Given the description of an element on the screen output the (x, y) to click on. 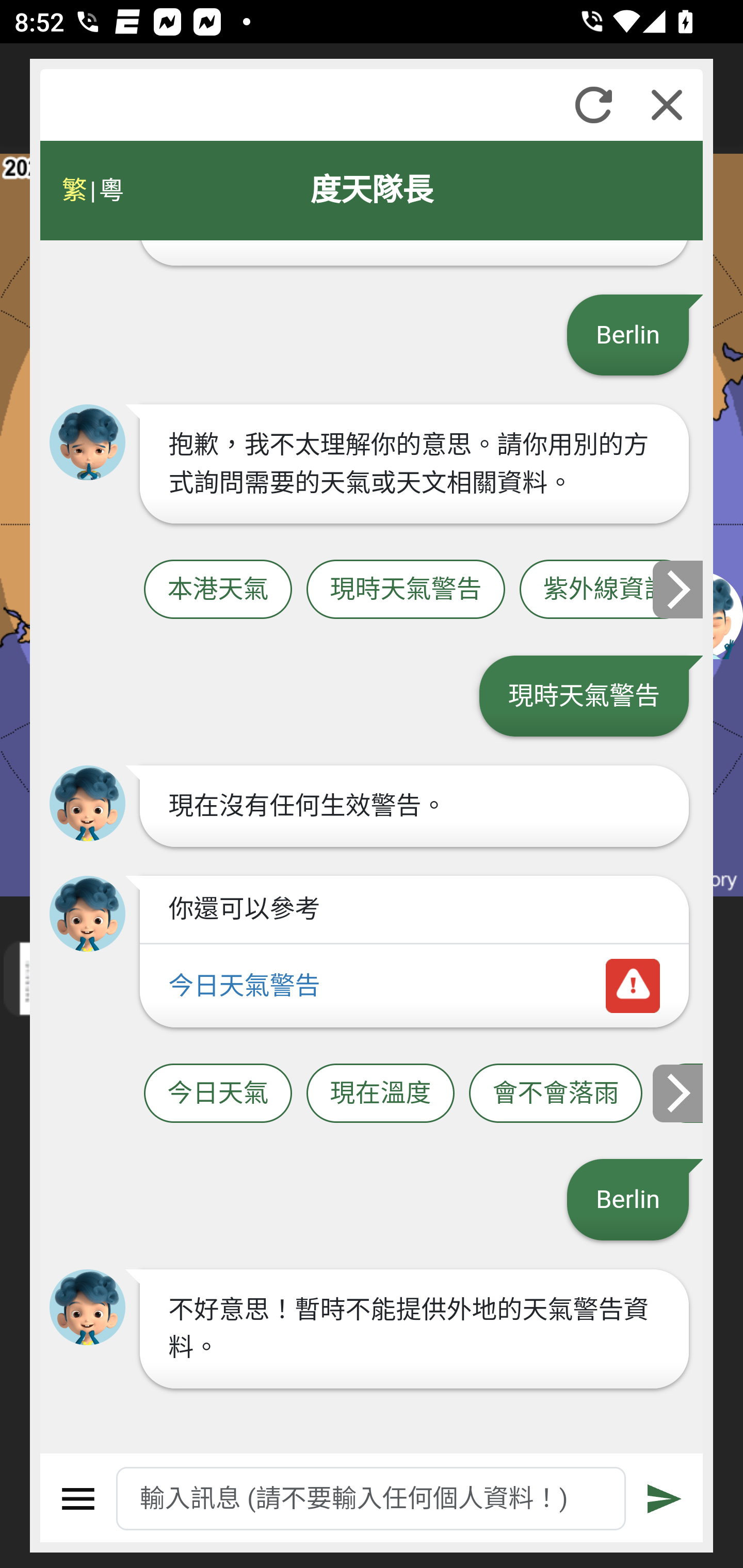
重新整理 (593, 104)
關閉 (666, 104)
繁 (73, 190)
粵 (110, 190)
本港天氣 (217, 589)
現時天氣警告 (405, 589)
紫外線資訊 (605, 589)
下一張 (678, 589)
今日天氣警告 (413, 985)
今日天氣 (217, 1092)
現在溫度 (380, 1092)
會不會落雨 (555, 1092)
下一張 (678, 1092)
選單 (78, 1498)
遞交 (665, 1498)
